Given the description of an element on the screen output the (x, y) to click on. 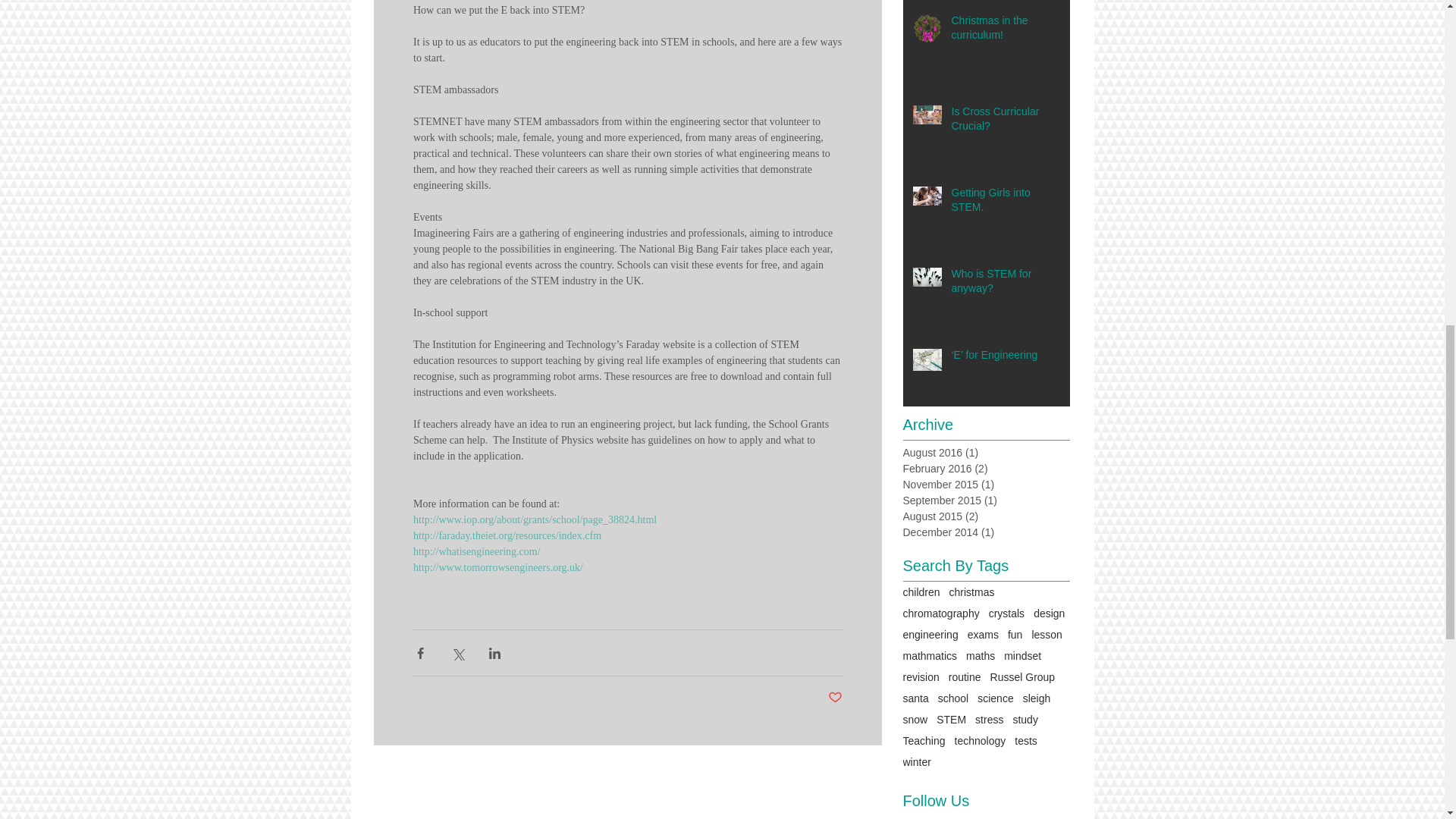
Getting Girls into STEM. (1004, 203)
Post not marked as liked (835, 697)
Is Cross Curricular Crucial? (1004, 122)
Christmas in the curriculum! (1004, 31)
chromatography (940, 613)
crystals (1006, 613)
Who is STEM for anyway? (1004, 284)
children (920, 592)
christmas (971, 592)
